Given the description of an element on the screen output the (x, y) to click on. 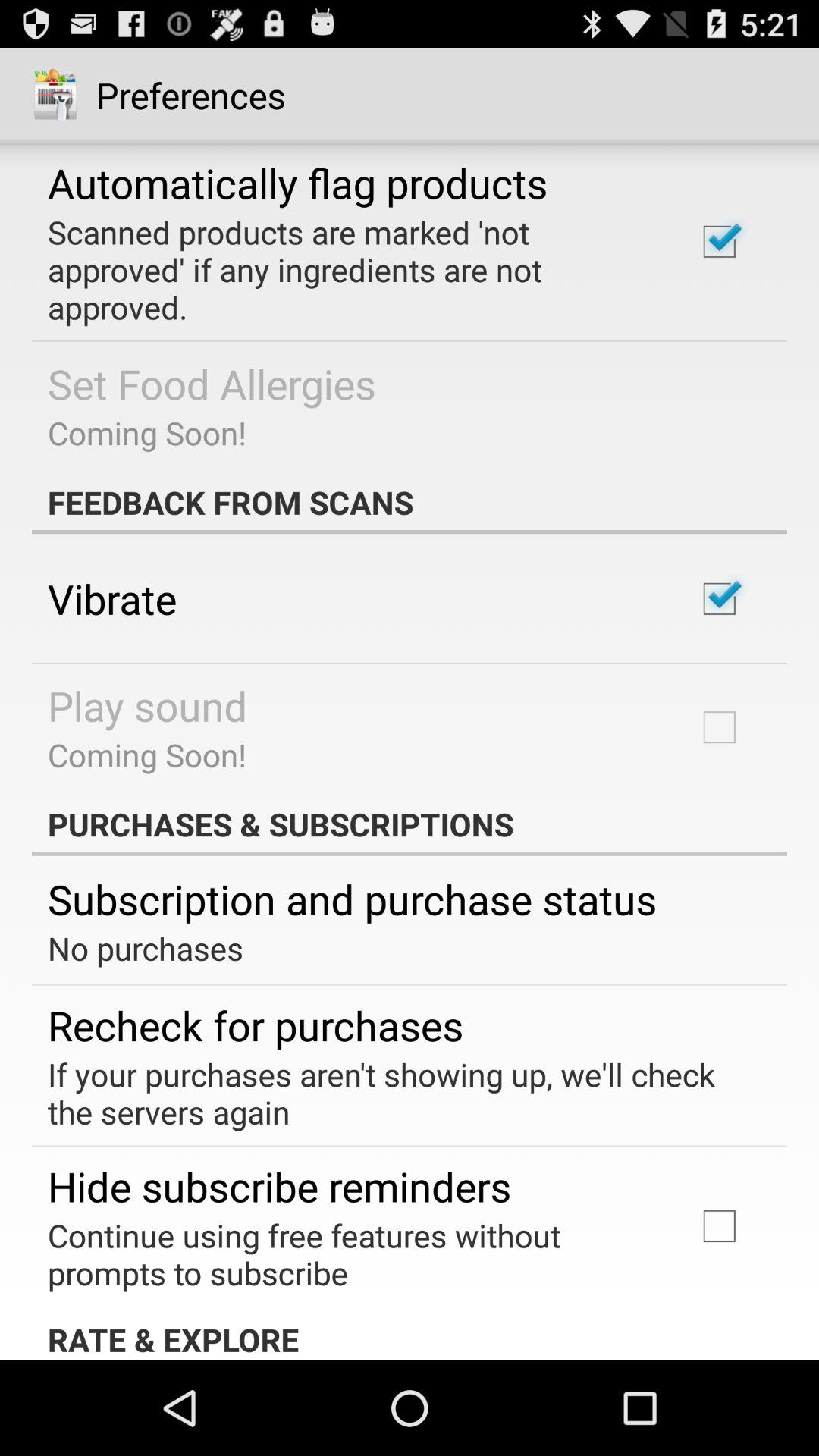
swipe to the no purchases item (145, 947)
